Given the description of an element on the screen output the (x, y) to click on. 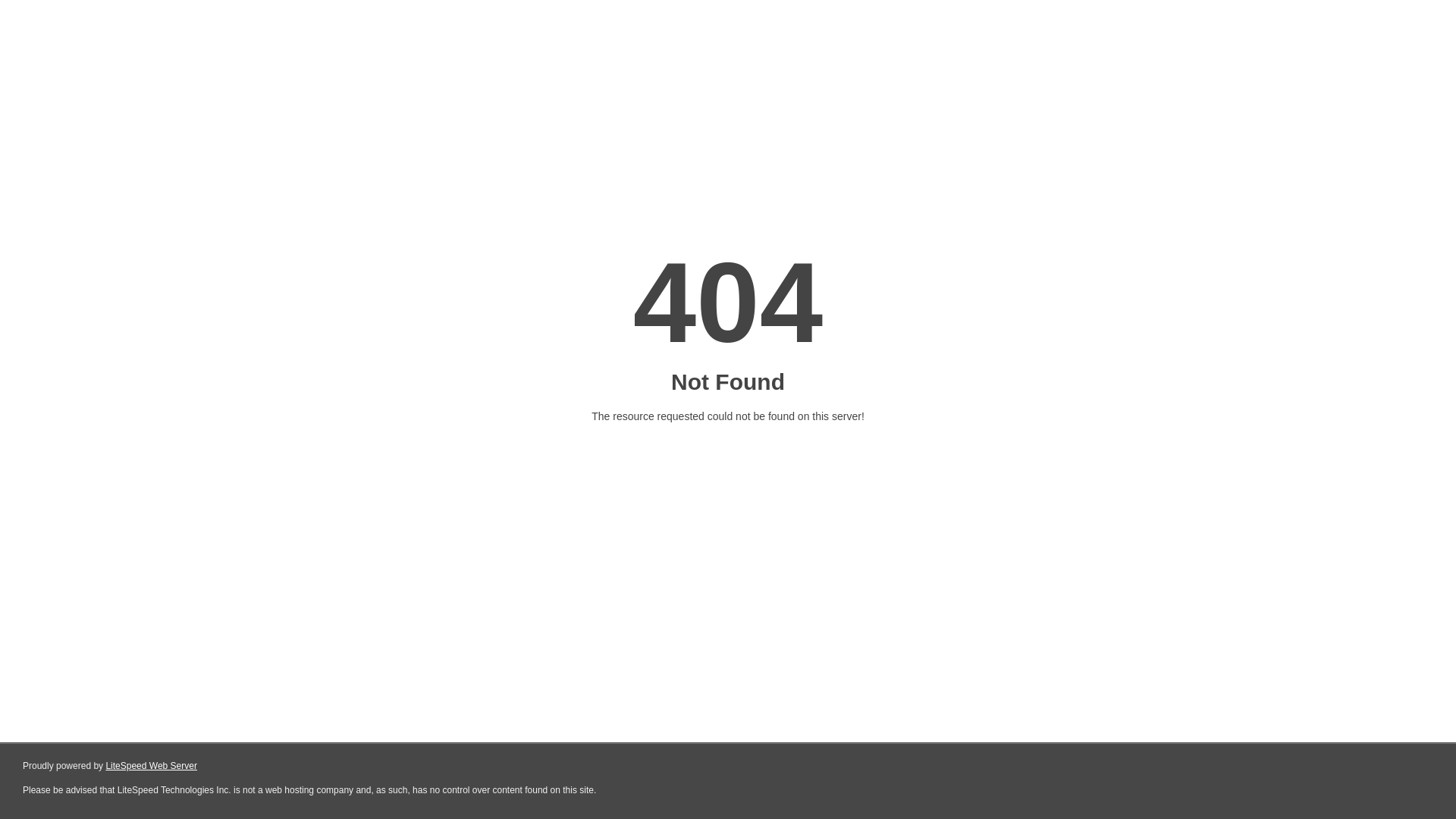
LiteSpeed Web Server Element type: text (151, 765)
